Given the description of an element on the screen output the (x, y) to click on. 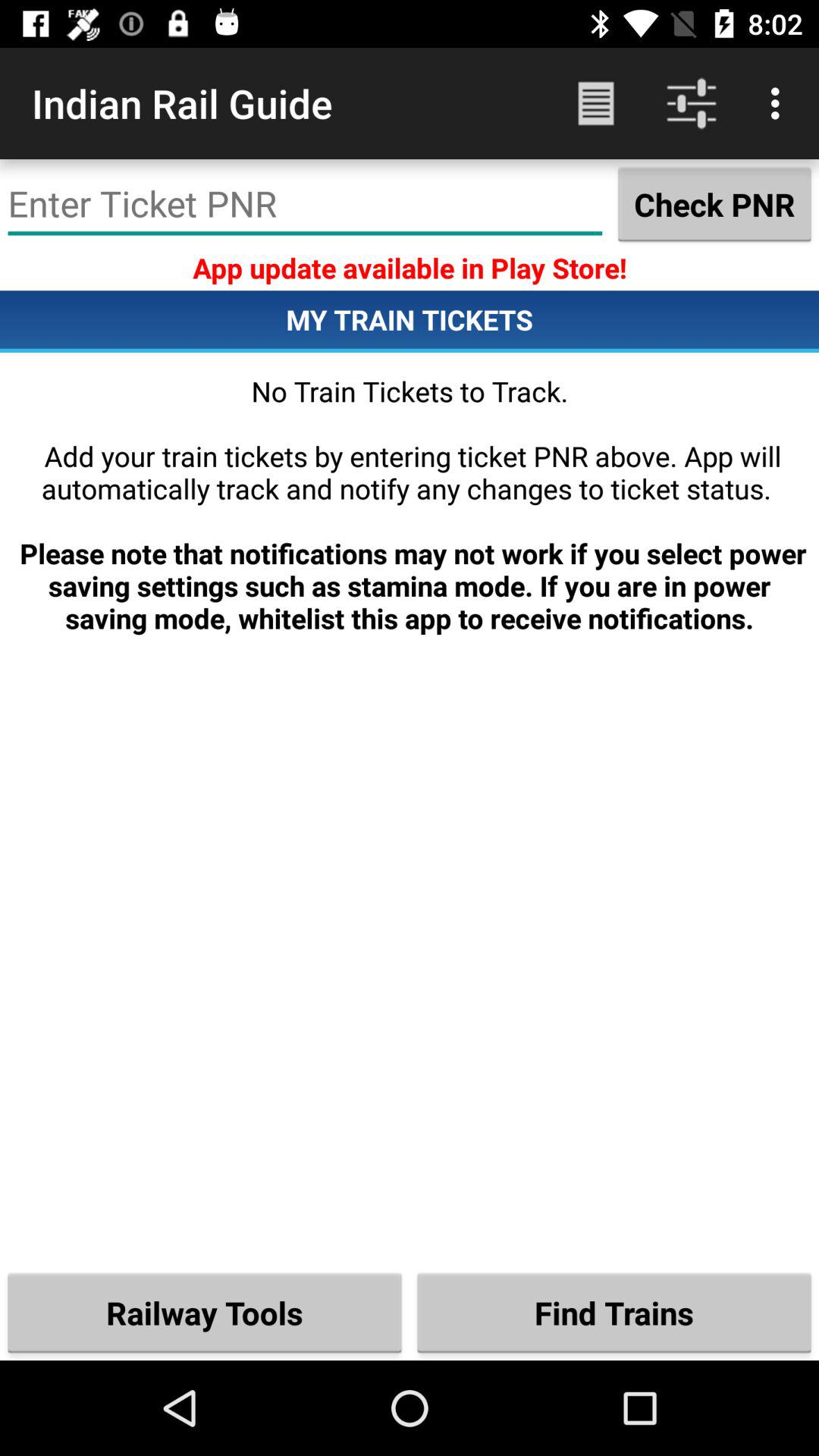
turn on the icon next to the find trains item (204, 1312)
